Given the description of an element on the screen output the (x, y) to click on. 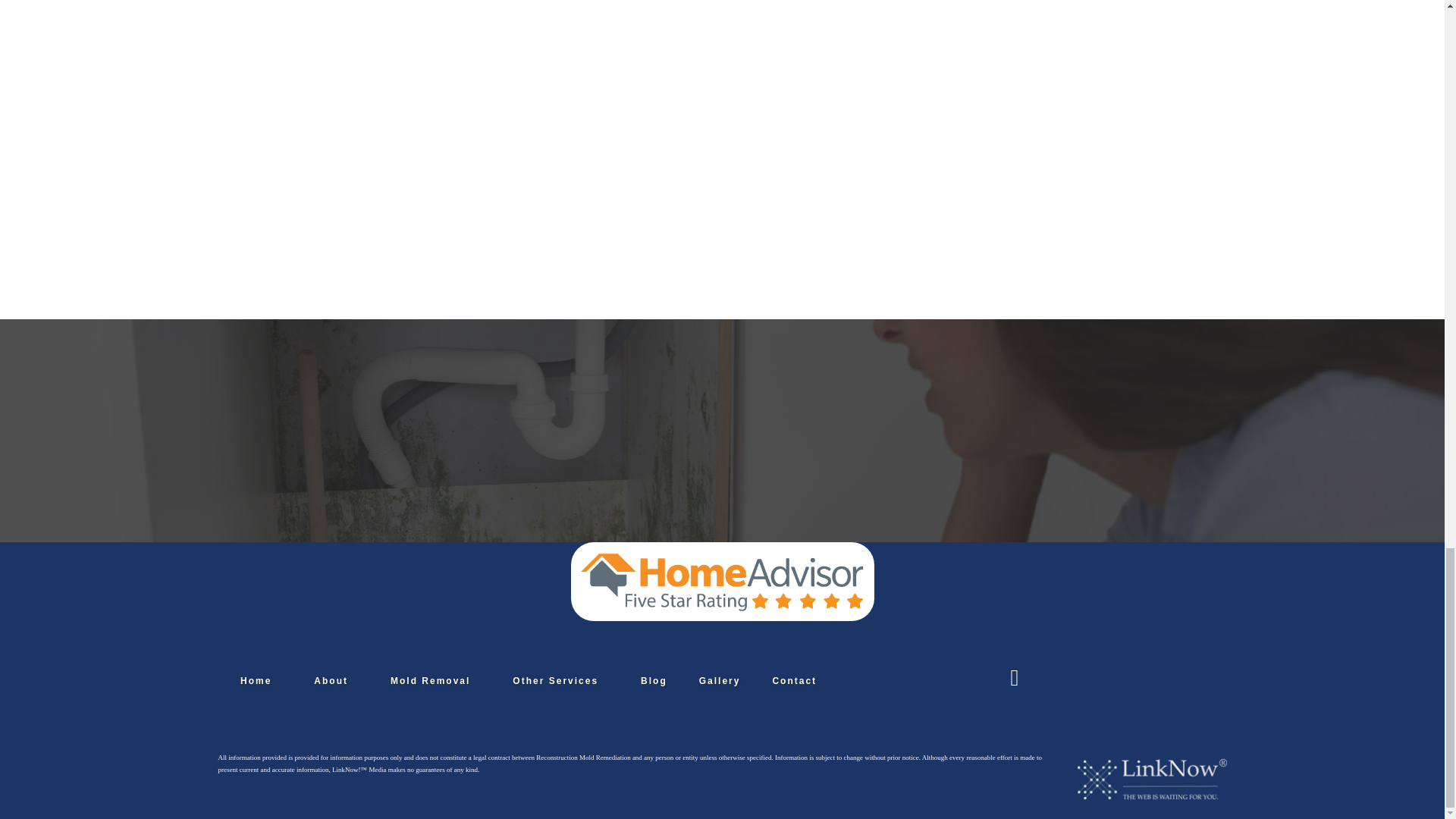
Home (256, 680)
About (331, 680)
Other Services (555, 680)
Mold Removal (430, 680)
